Given the description of an element on the screen output the (x, y) to click on. 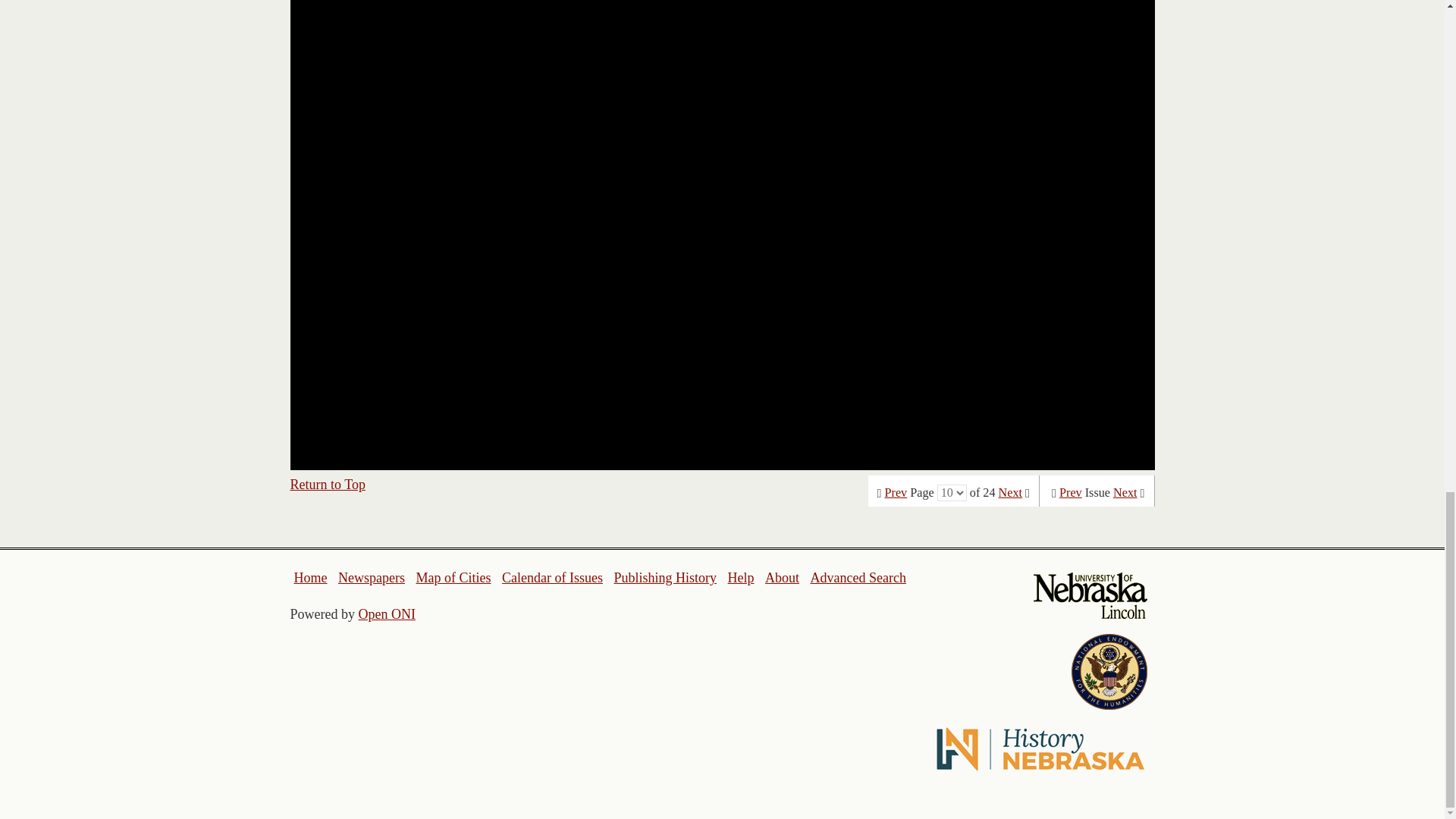
Prev (1070, 492)
Next (1125, 492)
Prev (896, 492)
Calendar of Issues (552, 577)
Return to Top (327, 484)
Home (310, 577)
About (782, 577)
Help (740, 577)
Publishing History (664, 577)
Advanced Search (857, 577)
Newspapers (370, 577)
Open ONI (386, 613)
Map of Cities (452, 577)
Next (1010, 492)
